Given the description of an element on the screen output the (x, y) to click on. 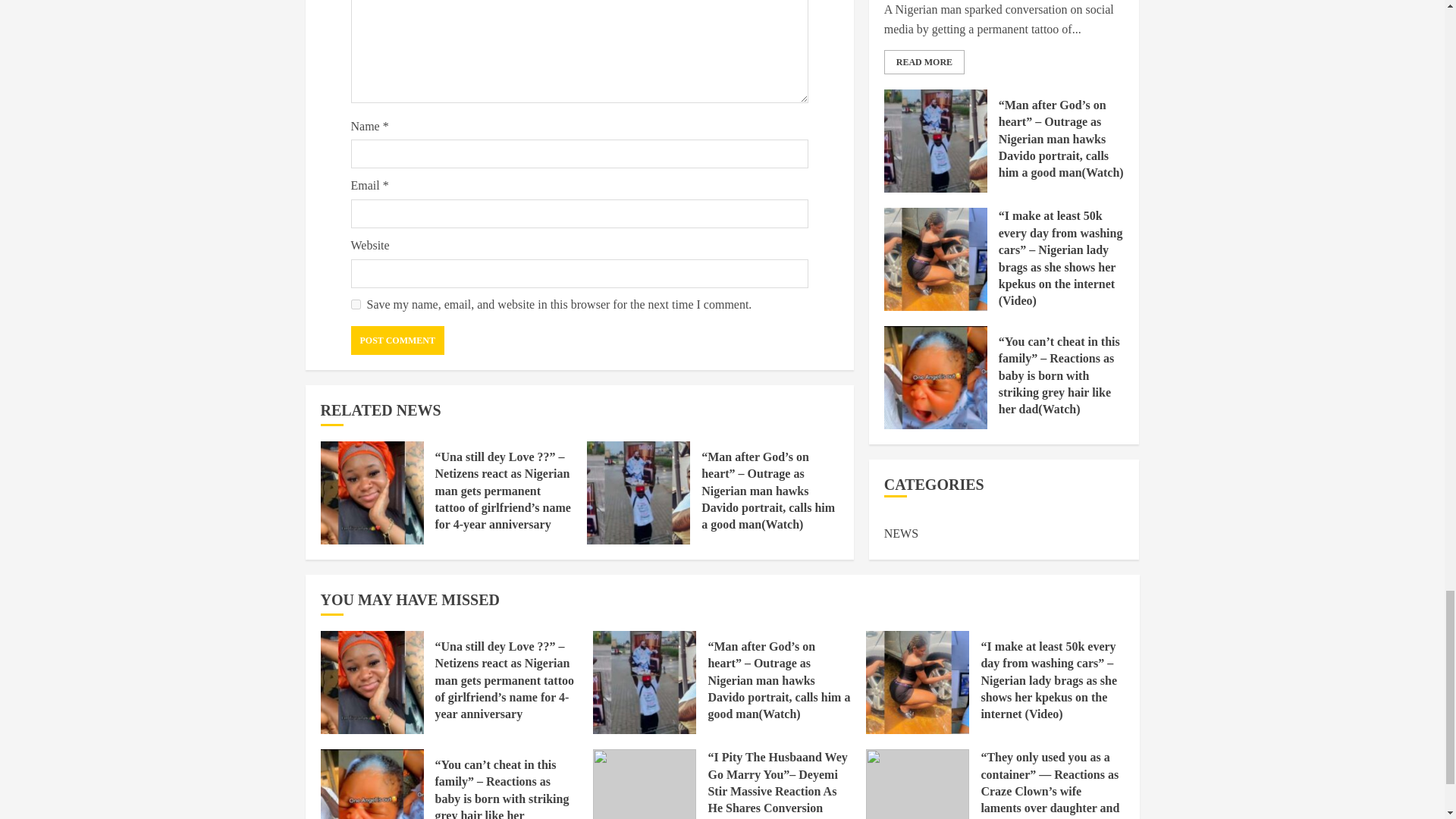
Post Comment (397, 339)
Post Comment (397, 339)
yes (354, 304)
